Given the description of an element on the screen output the (x, y) to click on. 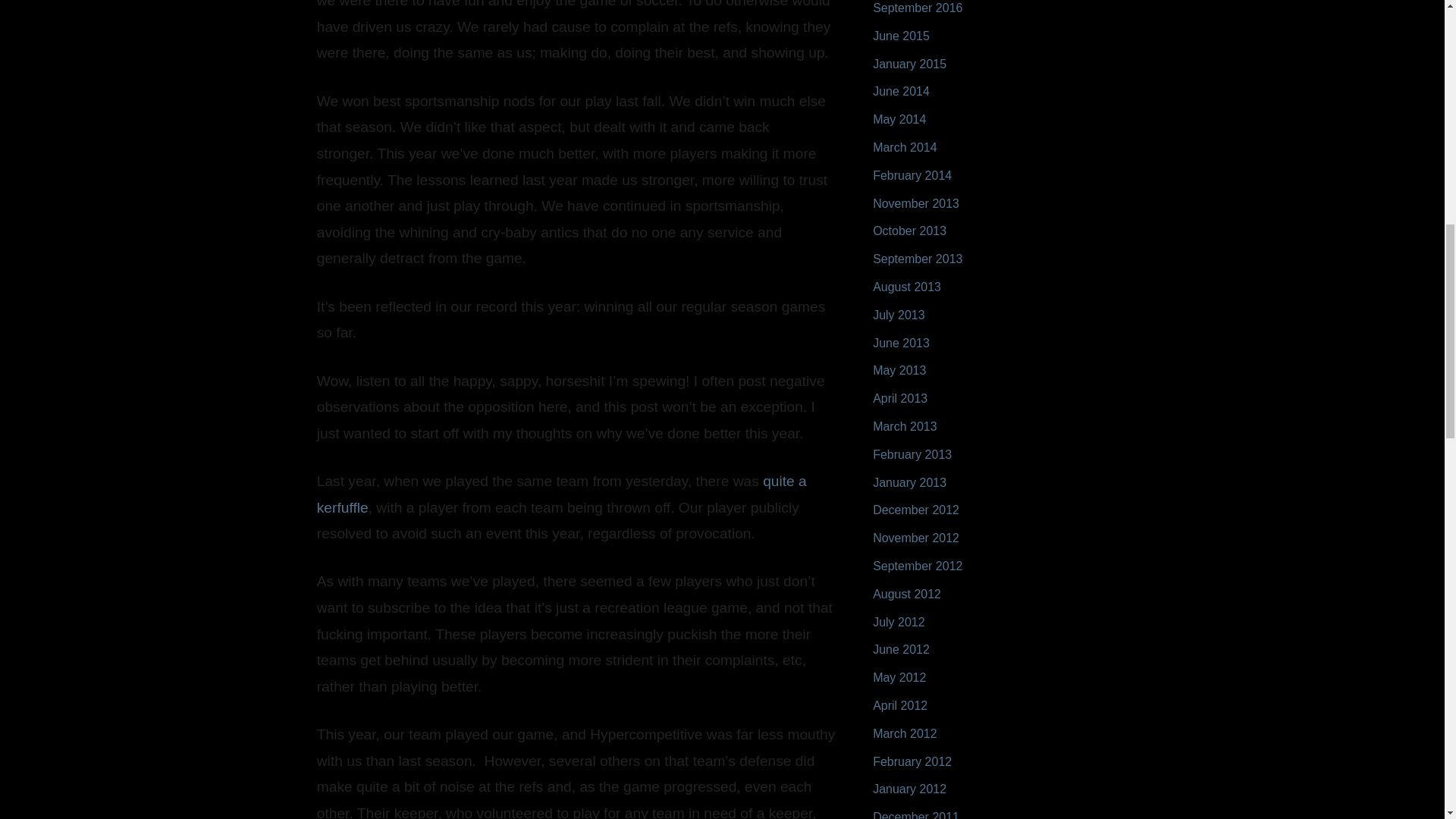
September 2016 (917, 7)
July 2013 (898, 314)
November 2013 (915, 203)
February 2014 (912, 174)
March 2014 (904, 146)
June 2014 (901, 91)
May 2014 (899, 119)
August 2013 (906, 286)
January 2015 (909, 63)
May 2013 (899, 369)
